Given the description of an element on the screen output the (x, y) to click on. 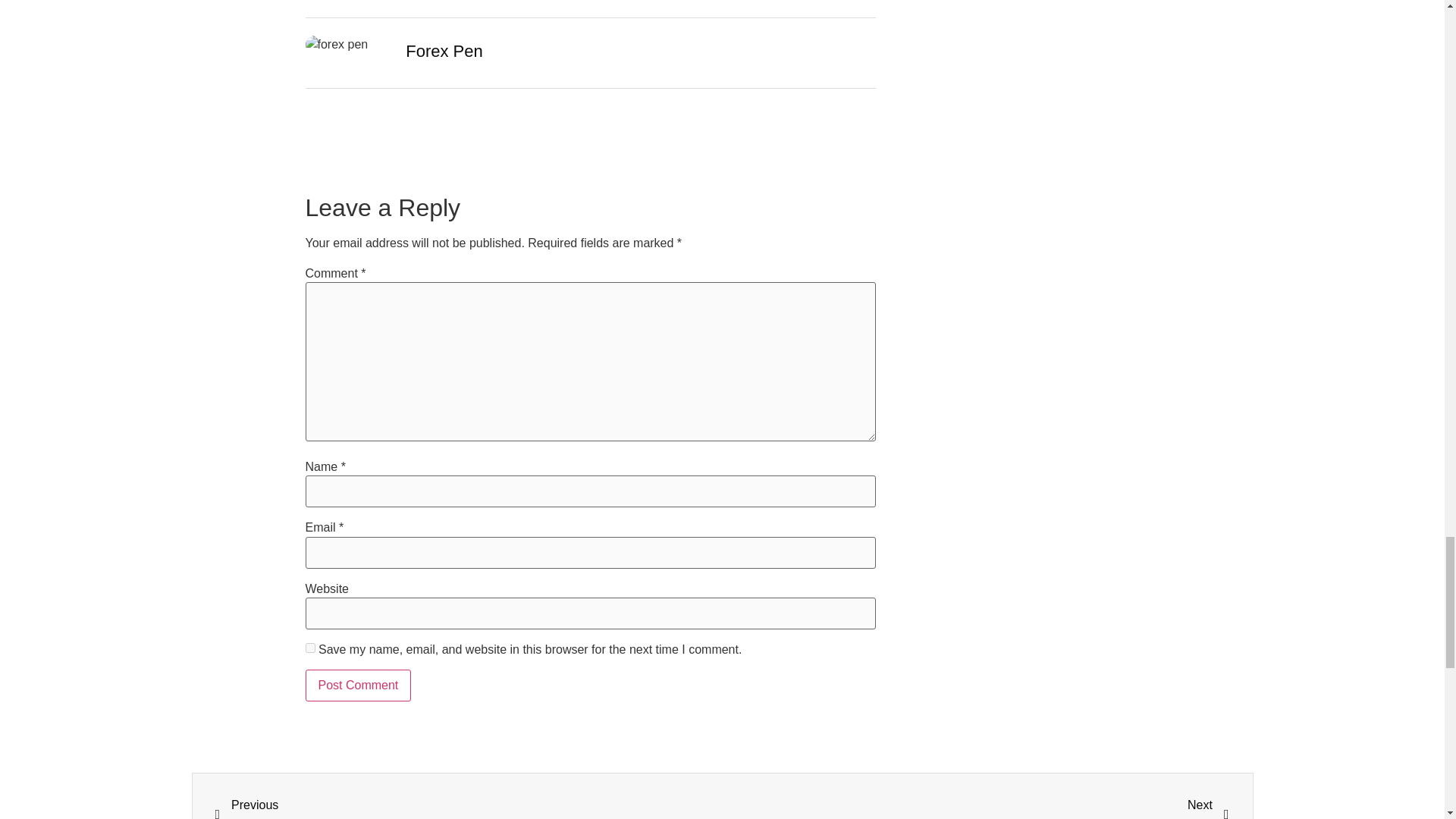
Post Comment (357, 685)
yes (309, 647)
Post Comment (468, 807)
